Given the description of an element on the screen output the (x, y) to click on. 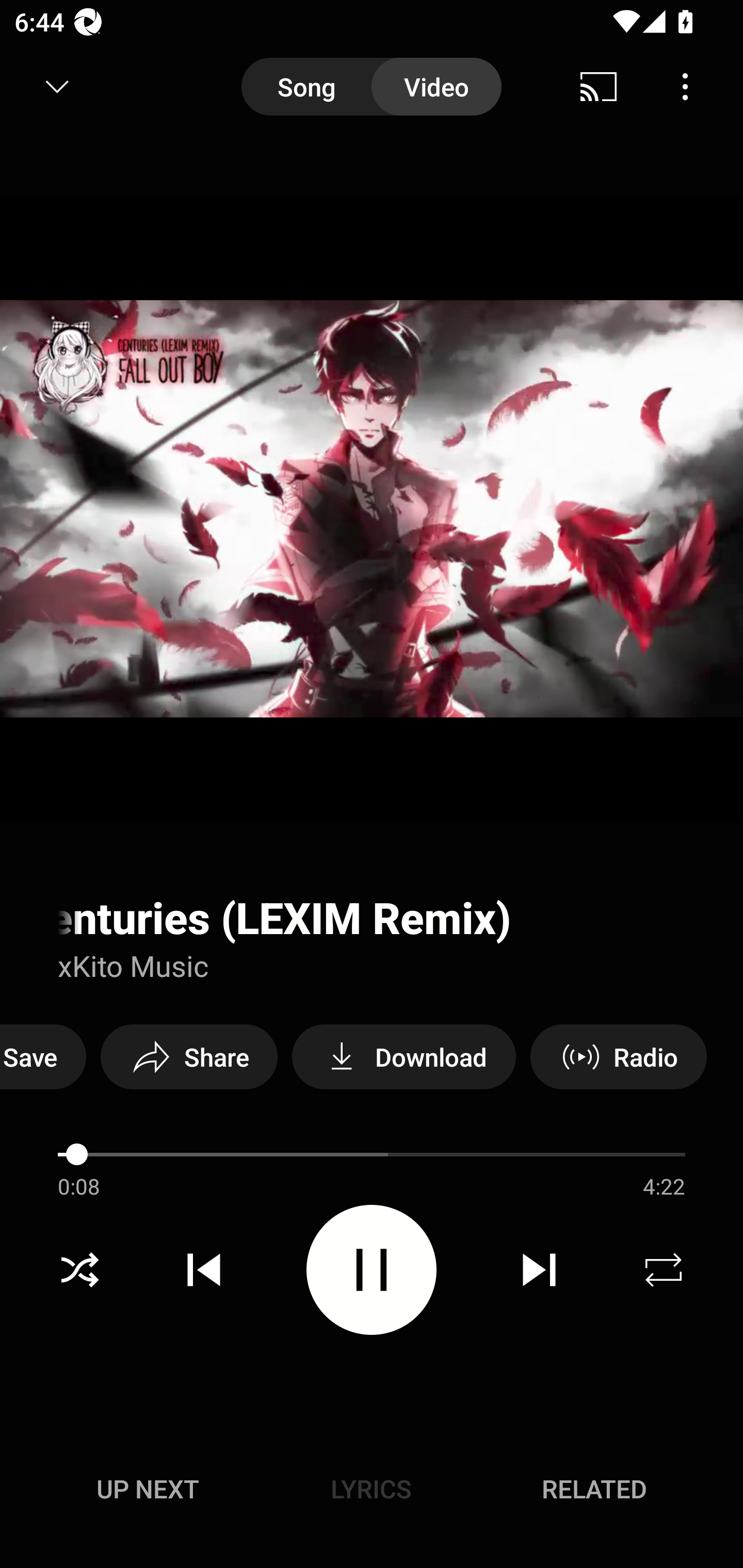
Minimize (57, 86)
Cast. Disconnected (598, 86)
Menu (684, 86)
Save Save to playlist (43, 1056)
Share (188, 1056)
Download (403, 1056)
Radio (618, 1056)
Pause video (371, 1269)
Shuffle on (79, 1269)
Previous track (203, 1269)
Next track (538, 1269)
Repeat off (663, 1269)
Up next UP NEXT Lyrics LYRICS Related RELATED (371, 1491)
Lyrics LYRICS (370, 1488)
Related RELATED (594, 1488)
